Given the description of an element on the screen output the (x, y) to click on. 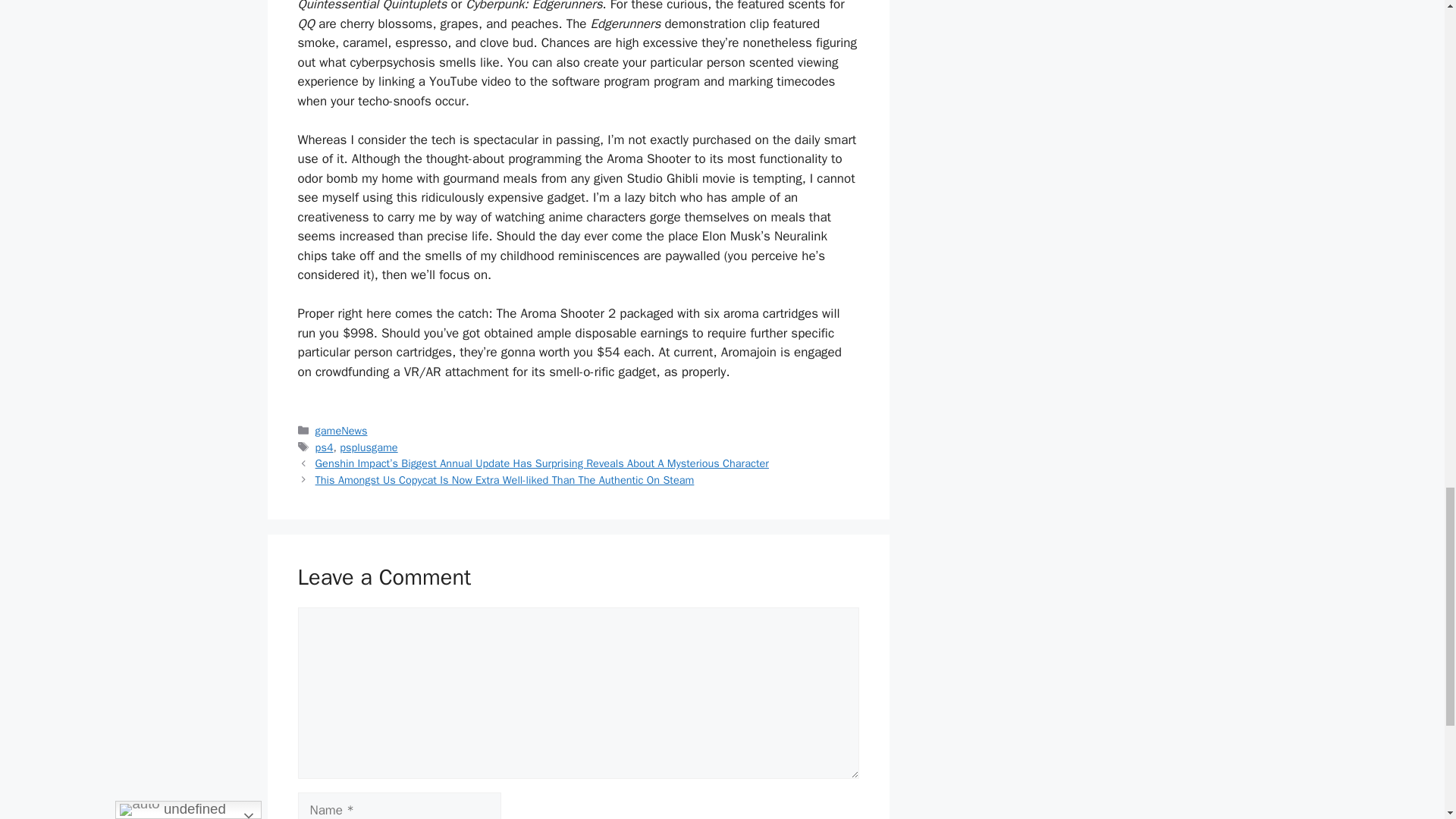
ps4 (324, 447)
gameNews (341, 430)
psplusgame (368, 447)
